Given the description of an element on the screen output the (x, y) to click on. 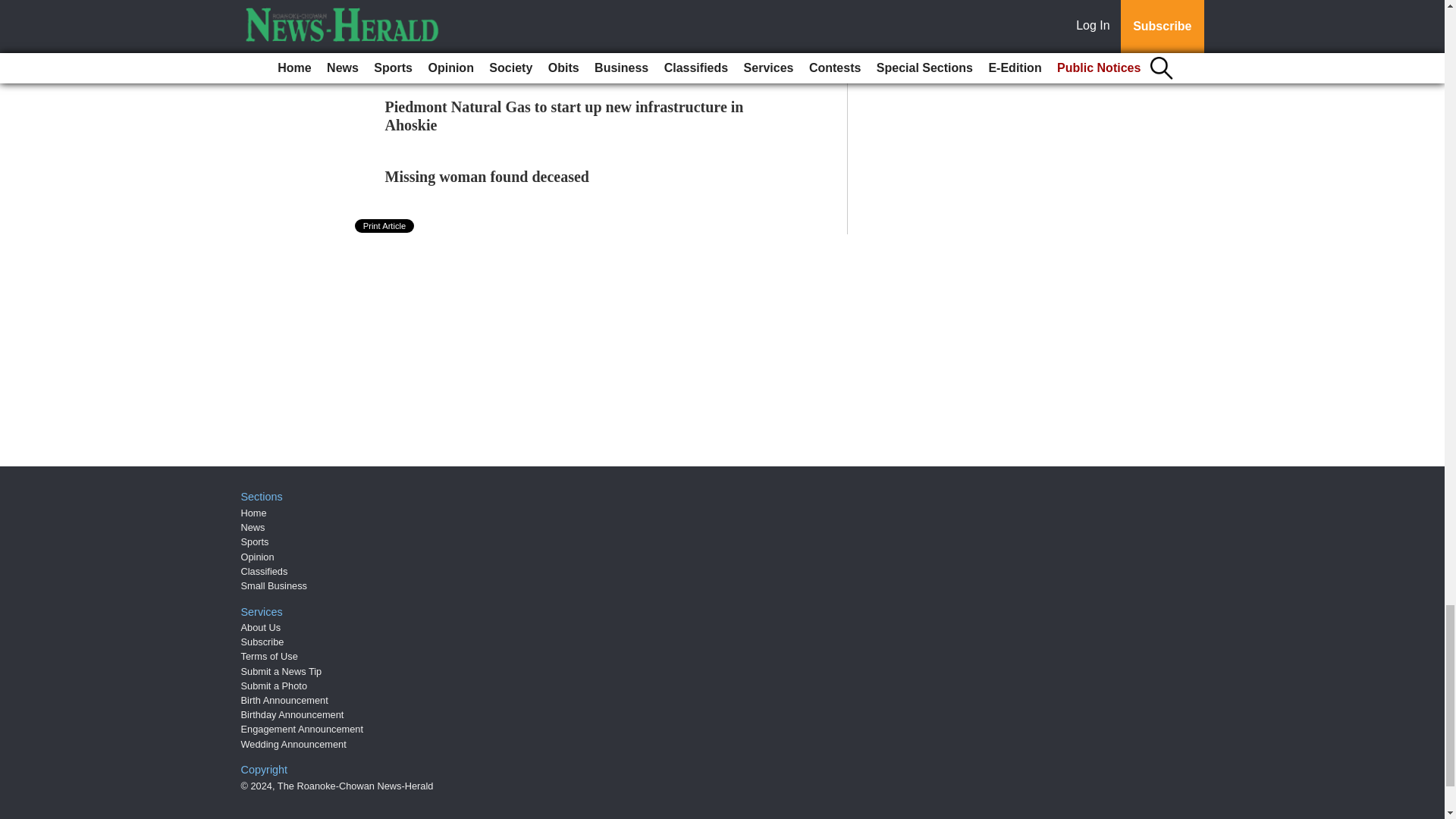
Missing woman found deceased (487, 176)
Bertie man arrested for altering weapon (515, 54)
Bertie man arrested for altering weapon (515, 54)
Missing woman found deceased (487, 176)
Woodland man arrested after high speed chase (536, 6)
Woodland man arrested after high speed chase (536, 6)
Print Article (384, 225)
